Given the description of an element on the screen output the (x, y) to click on. 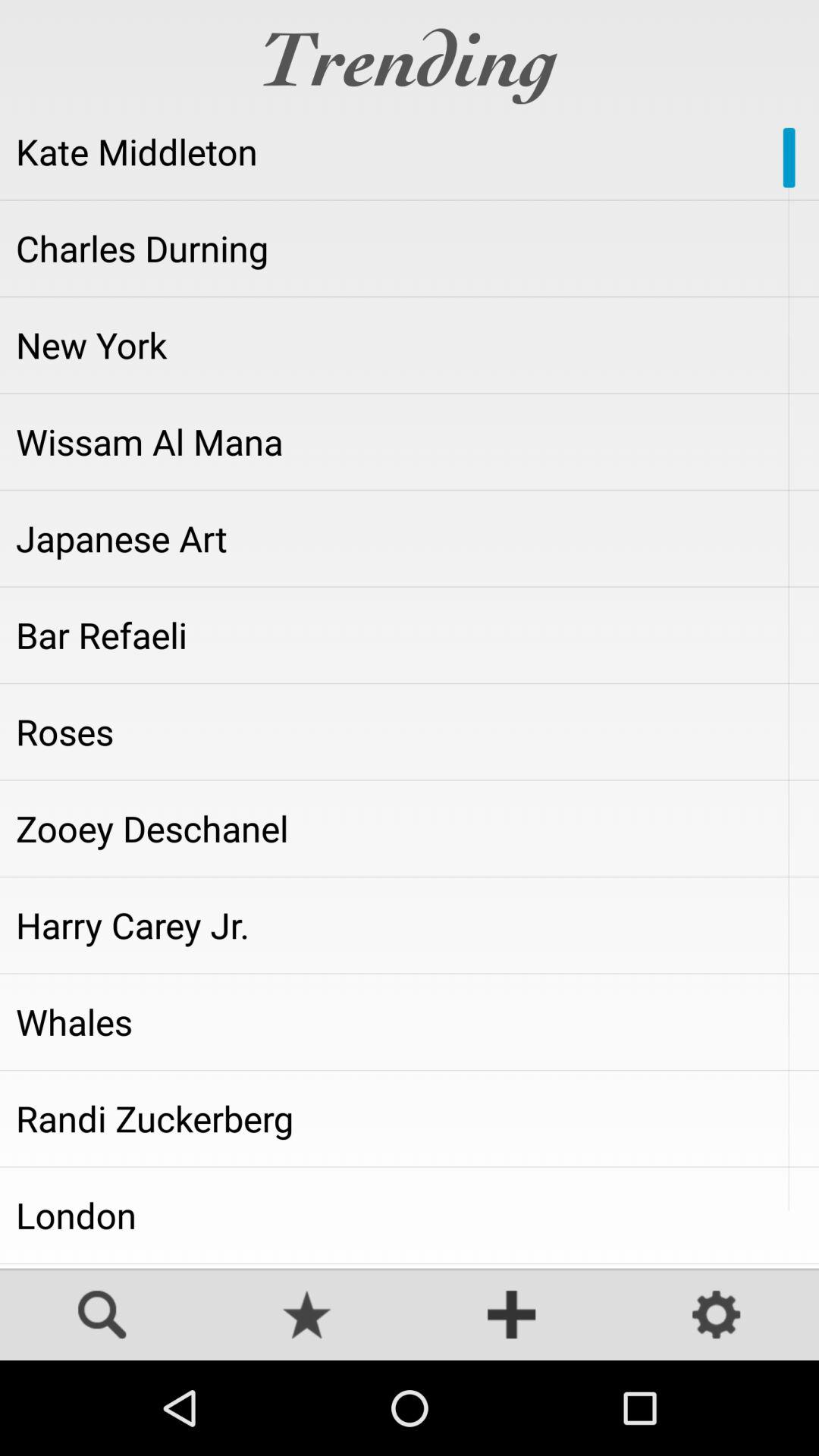
turn on lucy liu app (409, 1266)
